Given the description of an element on the screen output the (x, y) to click on. 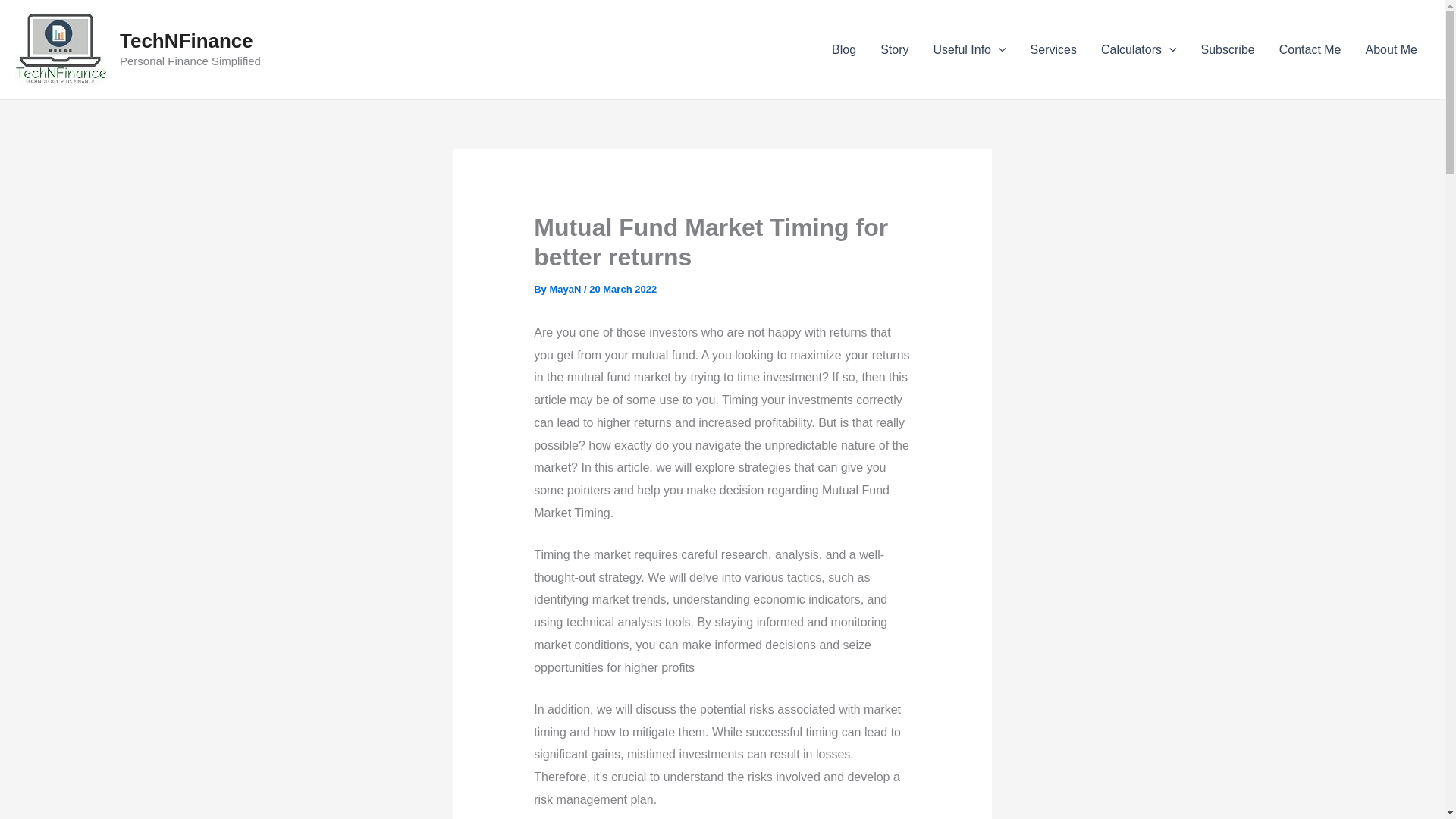
Useful Info (968, 48)
View all posts by MayaN (565, 288)
Contact Me (1310, 48)
Calculators (1139, 48)
MayaN (565, 288)
About Me (1391, 48)
Blog (843, 48)
Subscribe (1227, 48)
TechNFinance (186, 40)
Services (1053, 48)
